Given the description of an element on the screen output the (x, y) to click on. 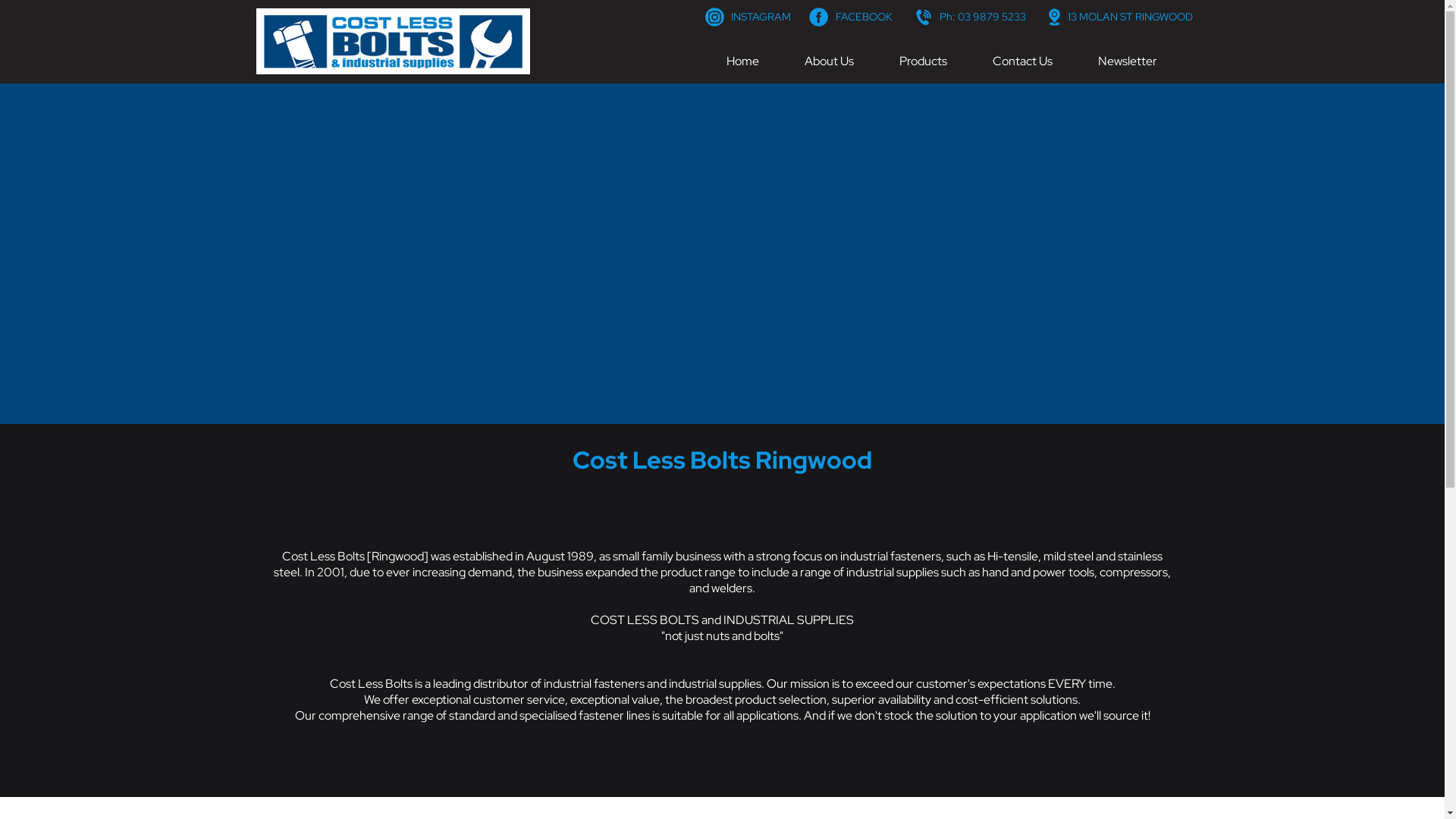
Contact Us Element type: text (1021, 60)
Newsletter Element type: text (1127, 60)
Products Element type: text (922, 60)
13 MOLAN ST RINGWOOD Element type: text (1129, 16)
INSTAGRAM Element type: text (760, 16)
About Us Element type: text (828, 60)
Home Element type: text (742, 60)
FACEBOOK Element type: text (863, 16)
Ph: 03 9879 5233 Element type: text (981, 16)
